Given the description of an element on the screen output the (x, y) to click on. 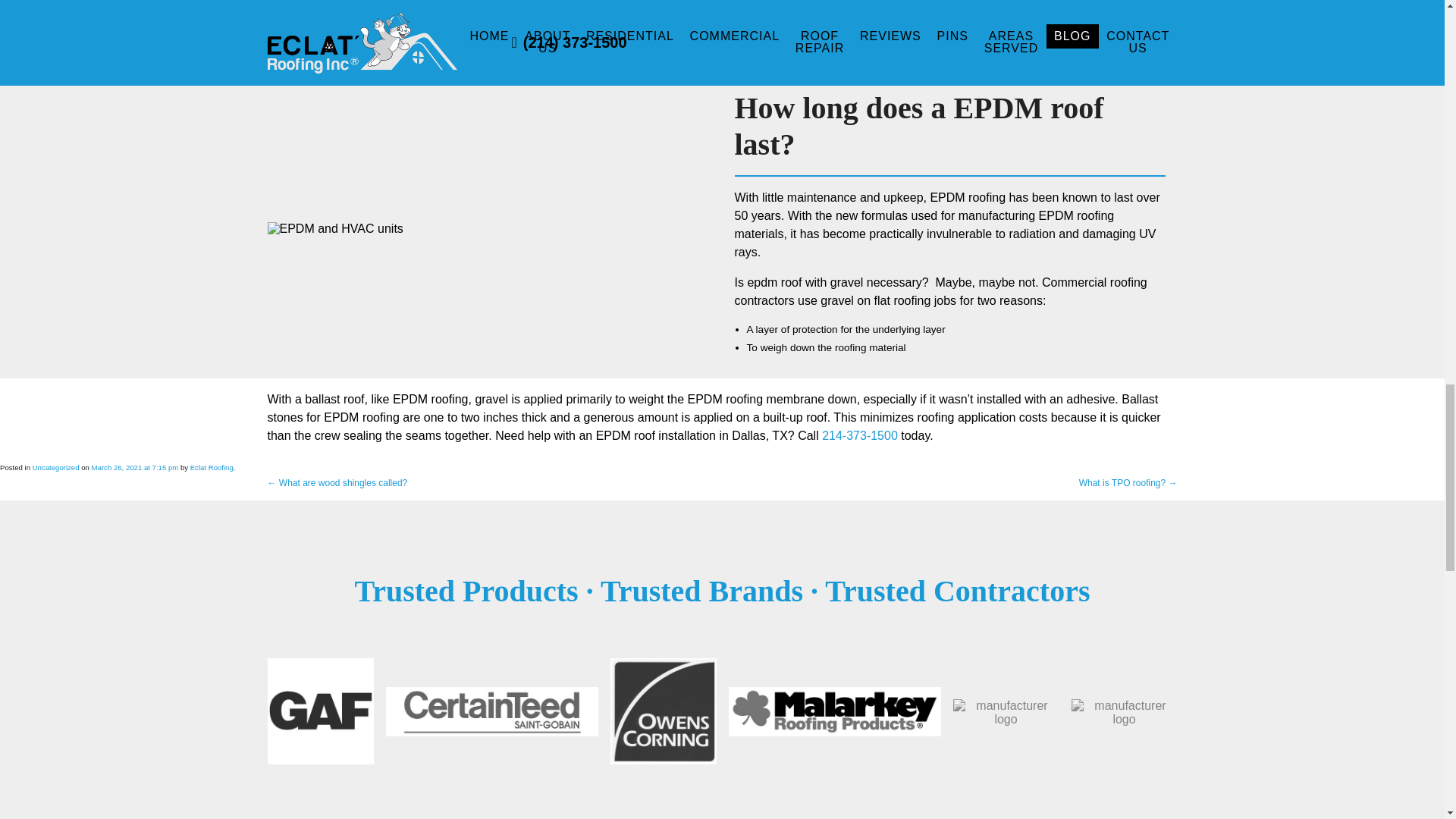
7:15 PM (135, 467)
View all posts by Eclat Roofing (211, 467)
